Given the description of an element on the screen output the (x, y) to click on. 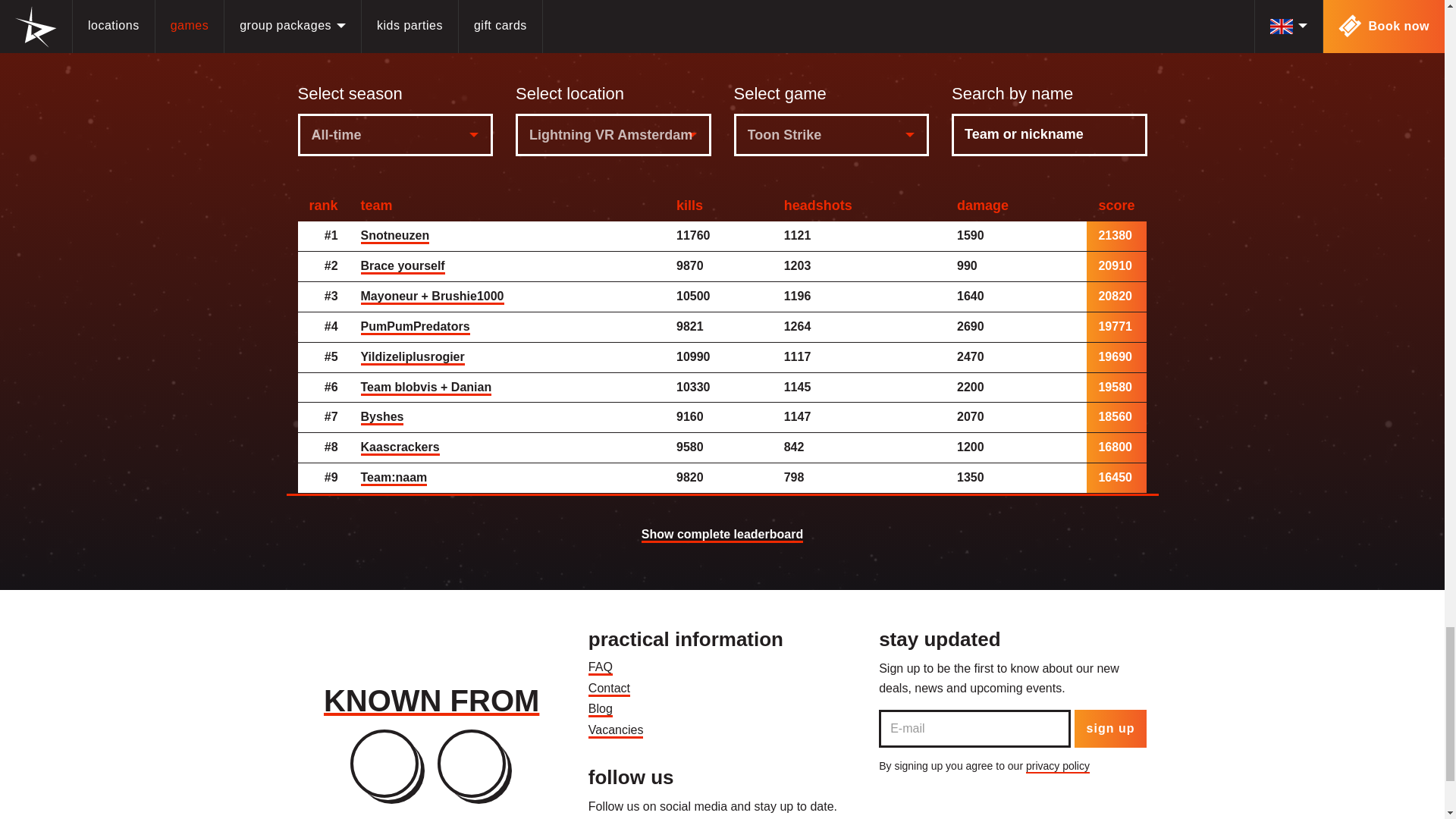
sign up (1110, 728)
PumPumPredators (415, 327)
Yildizeliplusrogier (412, 357)
Team:naam (394, 478)
Kaascrackers (400, 447)
Brace yourself (403, 266)
Snotneuzen (395, 236)
Byshes (382, 417)
